Given the description of an element on the screen output the (x, y) to click on. 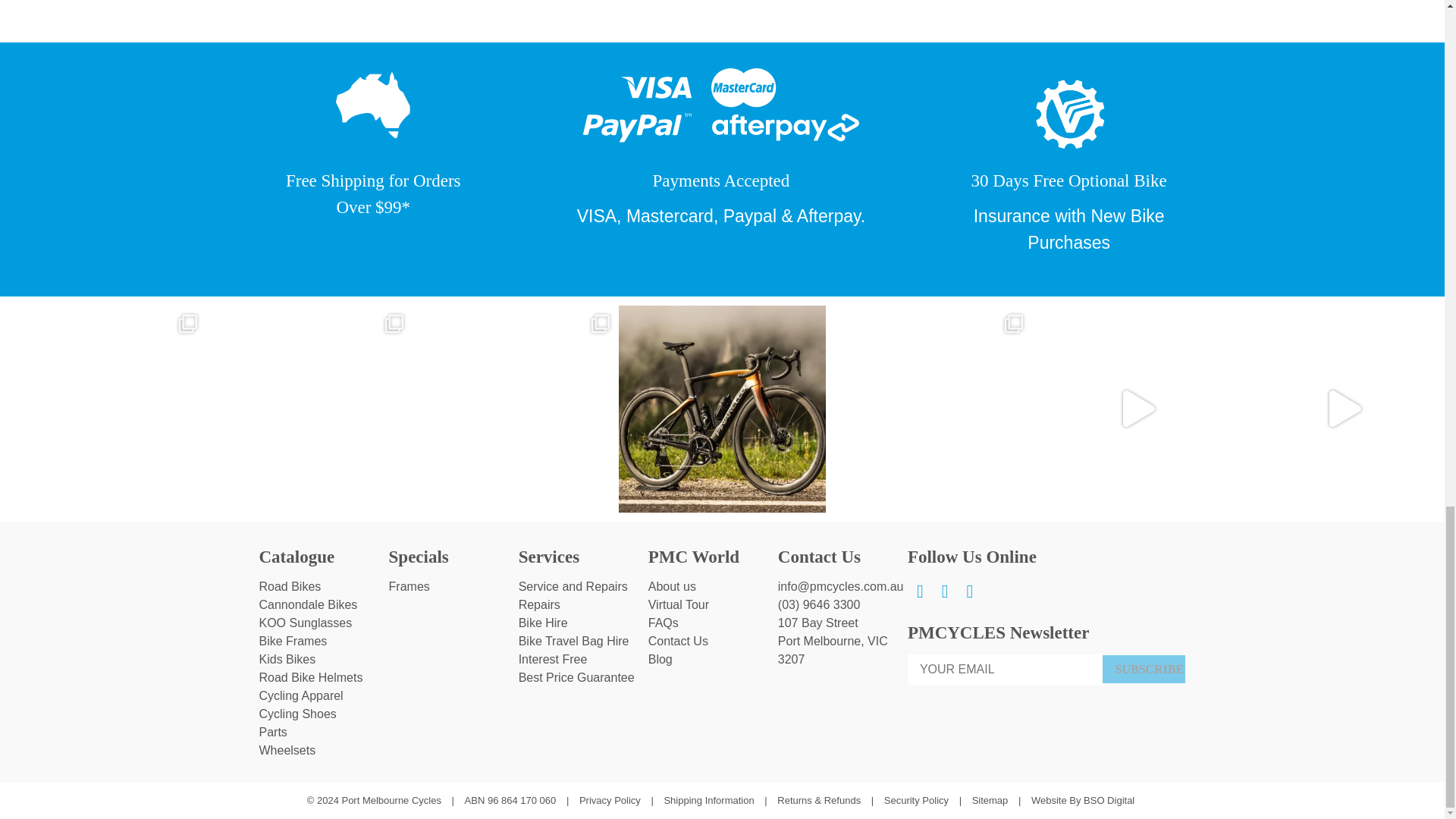
SUBSCRIBE (1144, 669)
